Given the description of an element on the screen output the (x, y) to click on. 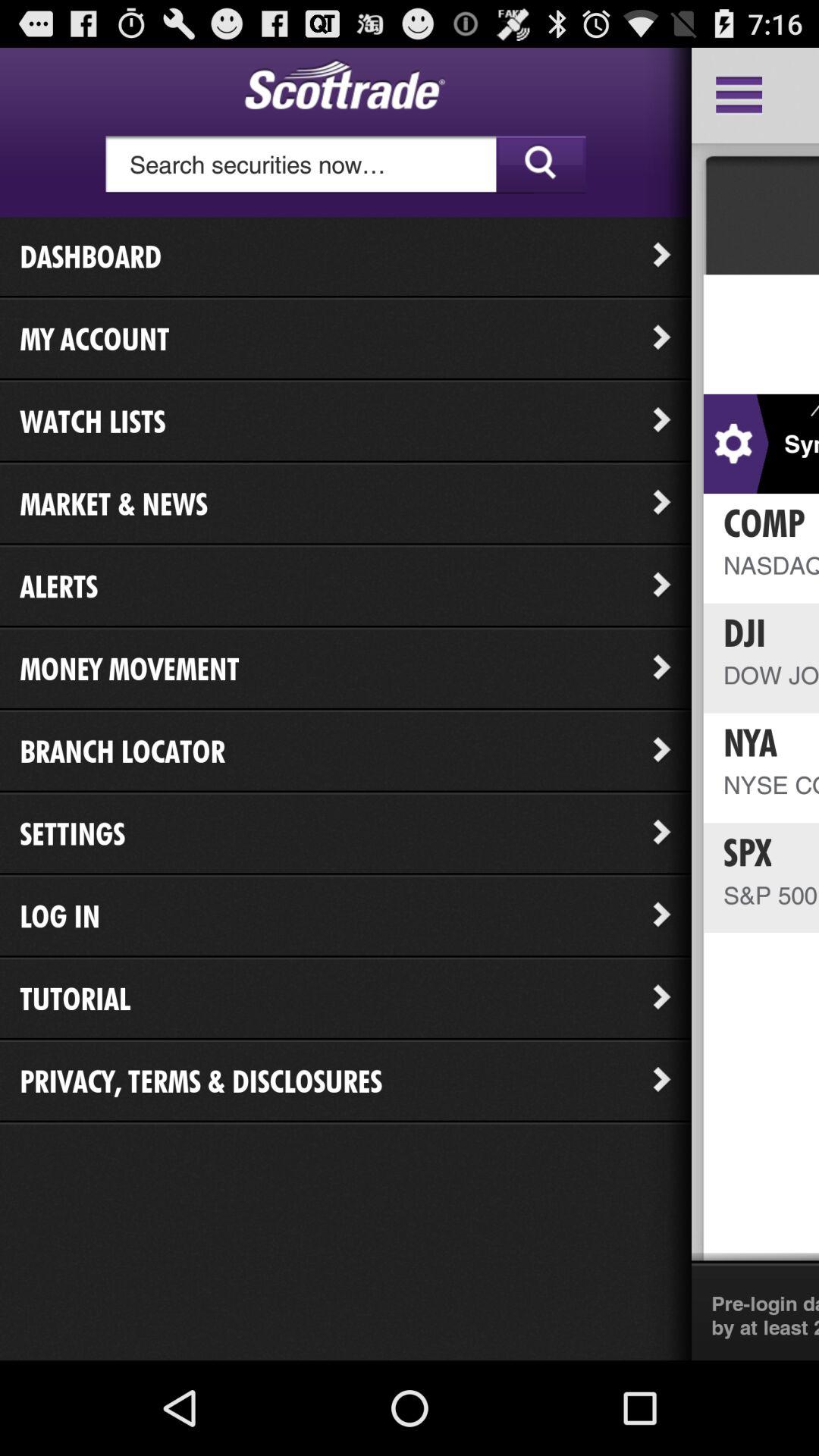
search bar (345, 164)
